Given the description of an element on the screen output the (x, y) to click on. 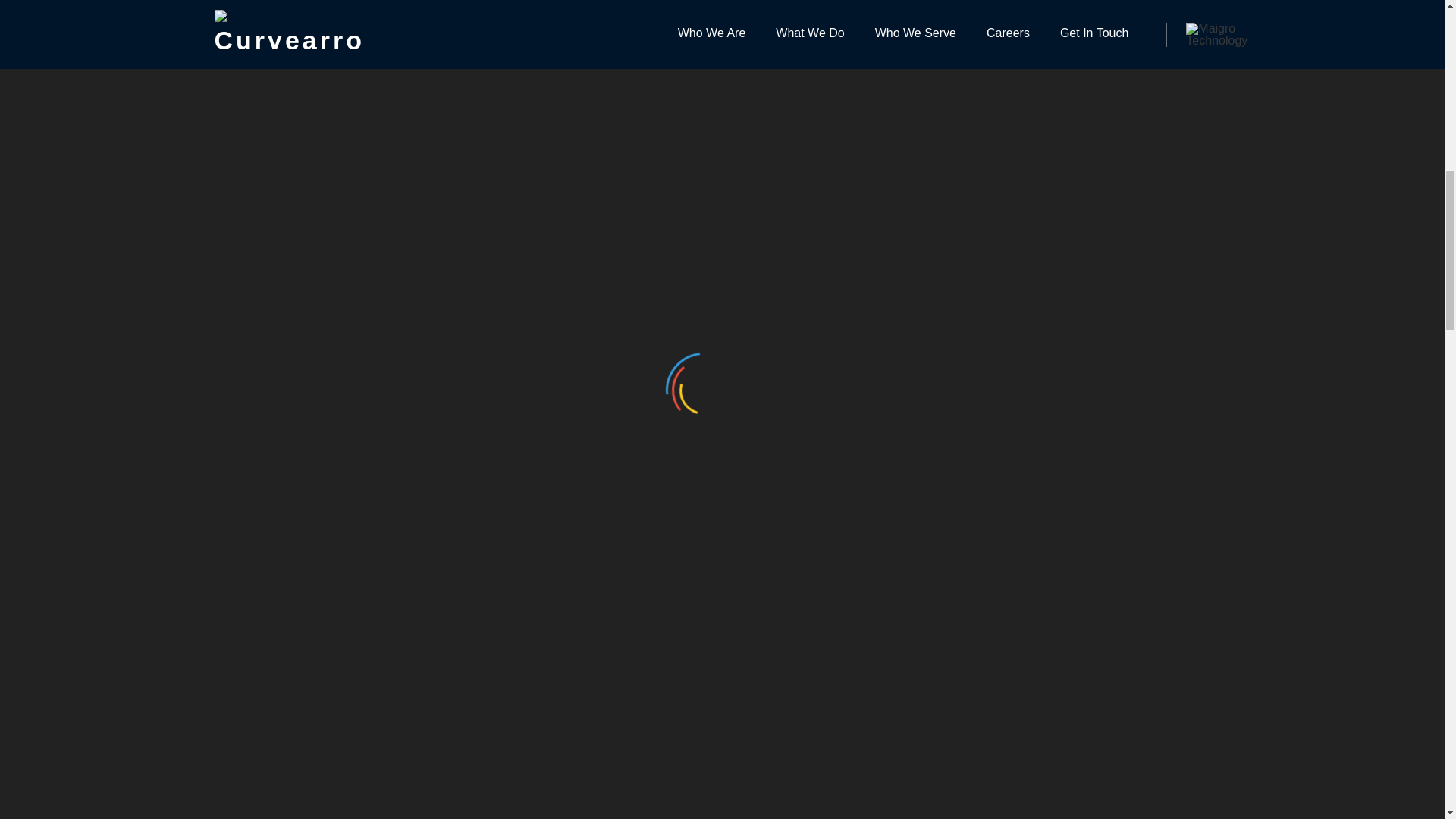
SEO (956, 79)
PPC (956, 34)
